Given the description of an element on the screen output the (x, y) to click on. 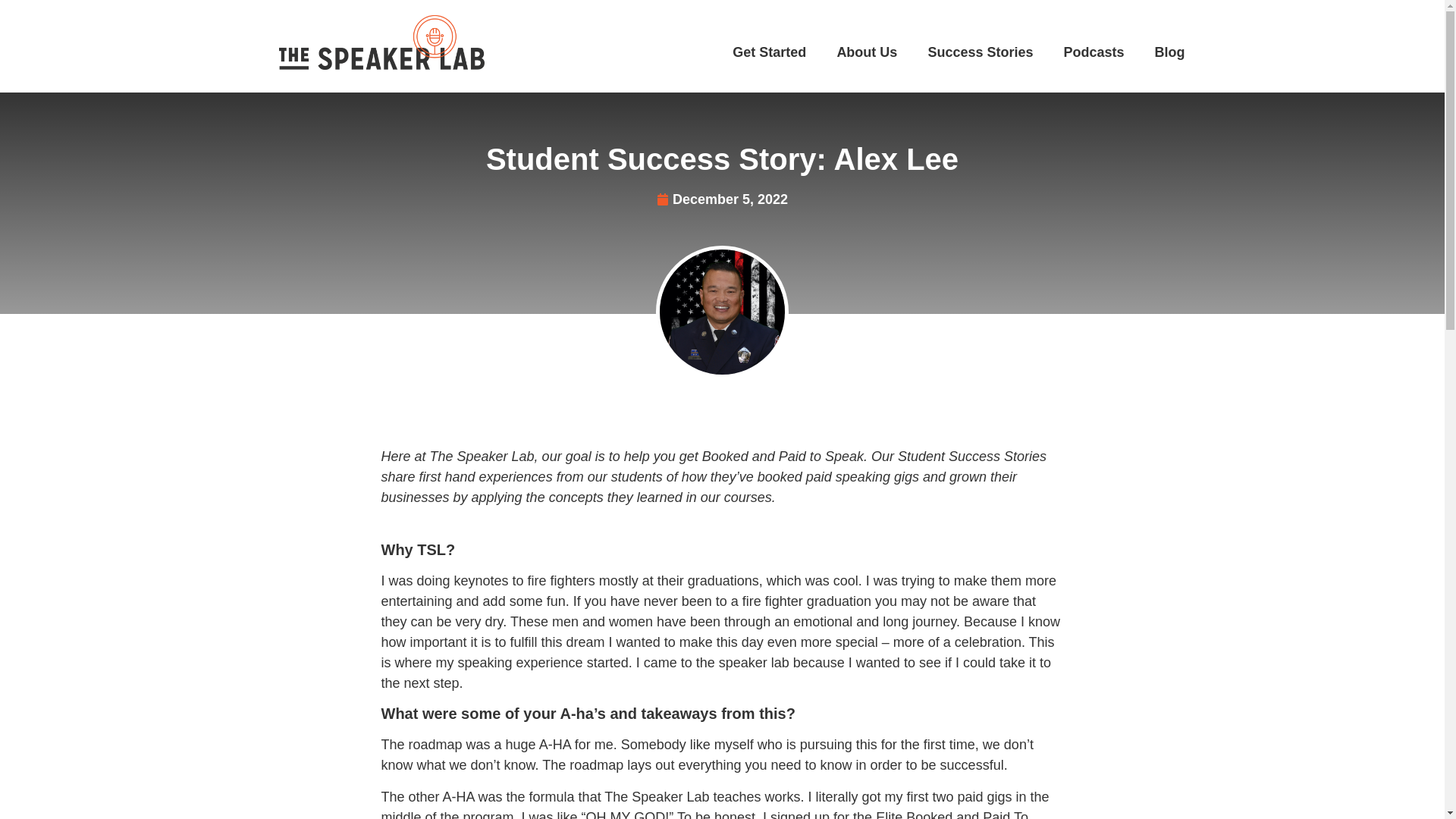
Podcasts (1093, 52)
Success Stories (980, 52)
About Us (866, 52)
Blog (1168, 52)
Get Started (769, 52)
